Given the description of an element on the screen output the (x, y) to click on. 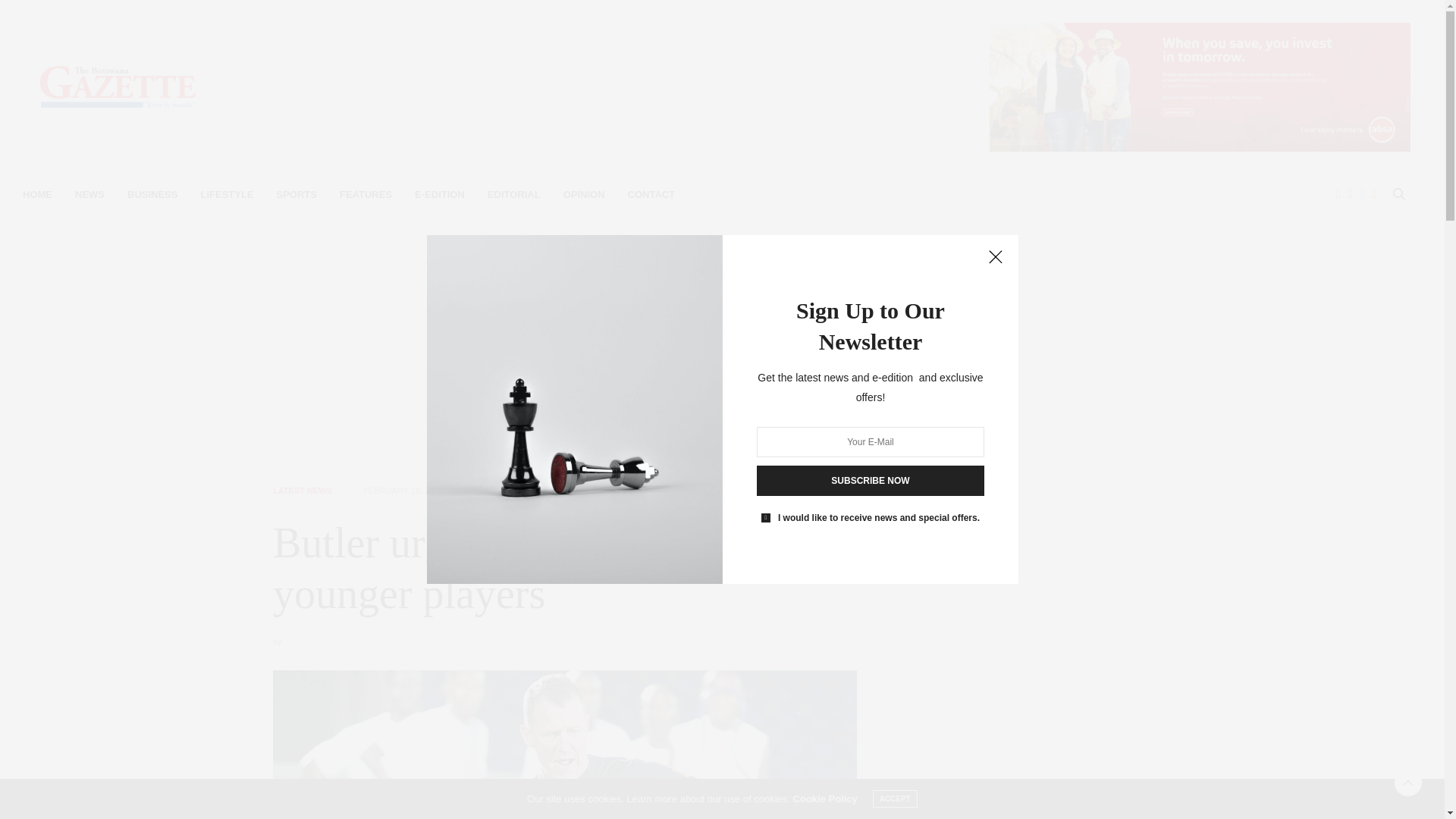
CONTACT (651, 193)
SPORTS (296, 193)
Scroll To Top (1408, 782)
E-EDITION (439, 193)
OPINION (584, 193)
EDITORIAL (513, 193)
BUSINESS (152, 193)
LIFESTYLE (226, 193)
FEATURES (365, 193)
SUBSCRIBE NOW (870, 481)
